Given the description of an element on the screen output the (x, y) to click on. 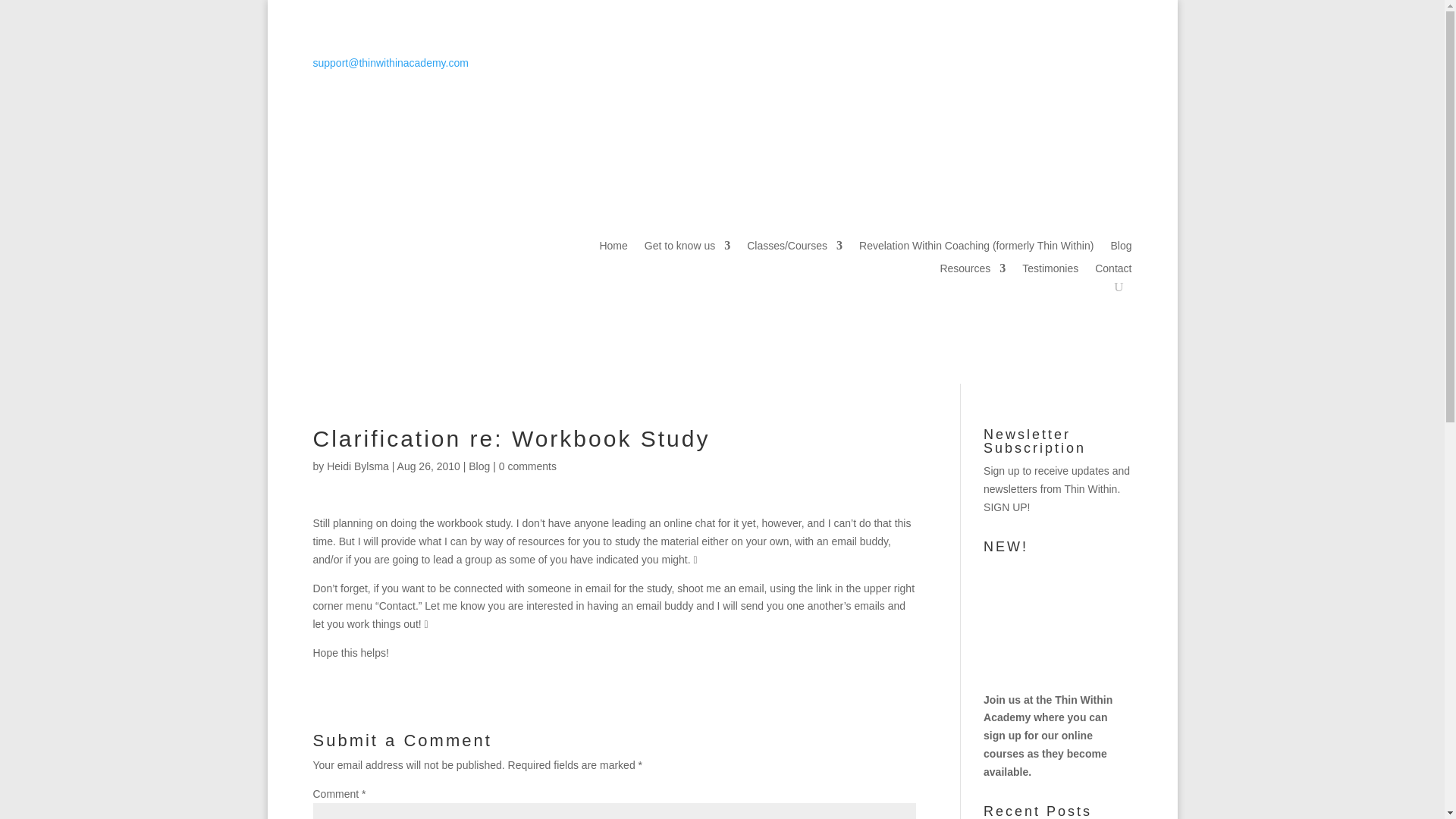
Blog (478, 466)
Contact (1112, 271)
Thin Within Academy (1048, 708)
logo (380, 281)
Blog (1120, 248)
Follow on Facebook (1118, 106)
Resources (972, 271)
Posts by Heidi Bylsma (357, 466)
Follow on X (1088, 106)
Heidi Bylsma (357, 466)
